Given the description of an element on the screen output the (x, y) to click on. 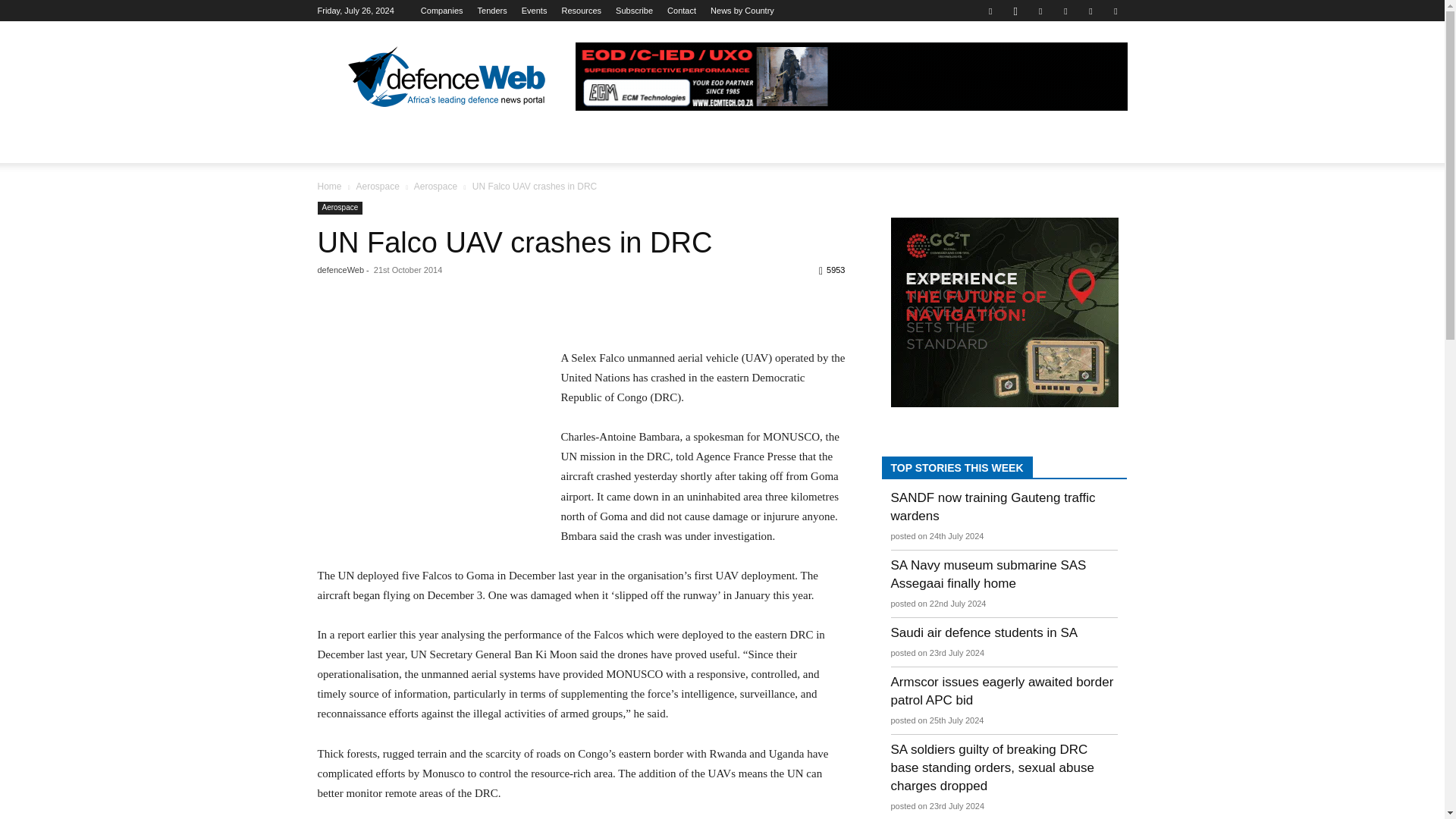
Instagram (1015, 10)
Mail (1065, 10)
Facebook (989, 10)
Linkedin (1040, 10)
Youtube (1114, 10)
Twitter (1090, 10)
